Given the description of an element on the screen output the (x, y) to click on. 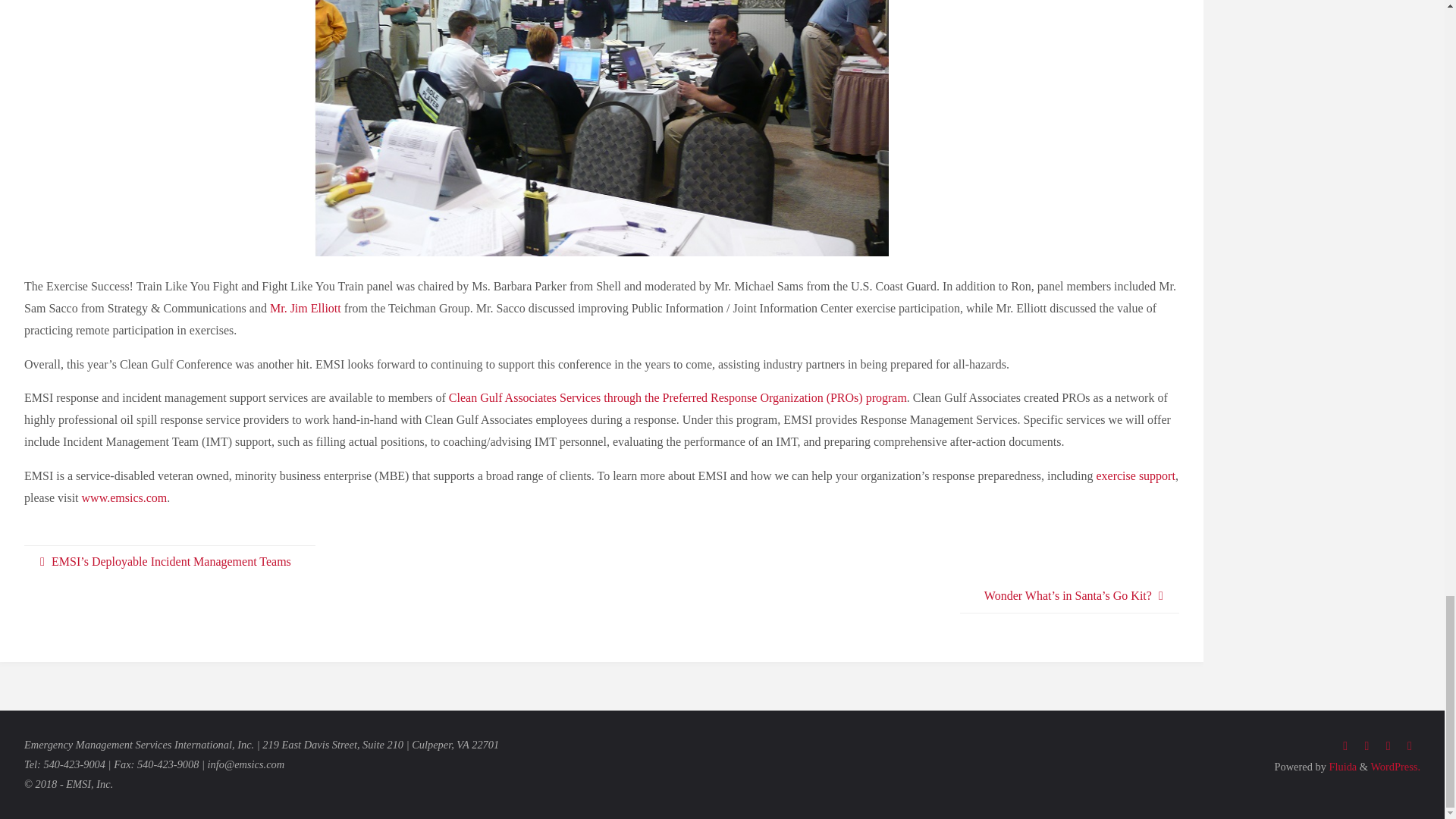
LinkedIn (1388, 746)
Semantic Personal Publishing Platform (1395, 766)
Twitter (1366, 746)
Fluida WordPress Theme by Cryout Creations (1341, 766)
Facebook (1345, 746)
Flickr (1410, 746)
